Given the description of an element on the screen output the (x, y) to click on. 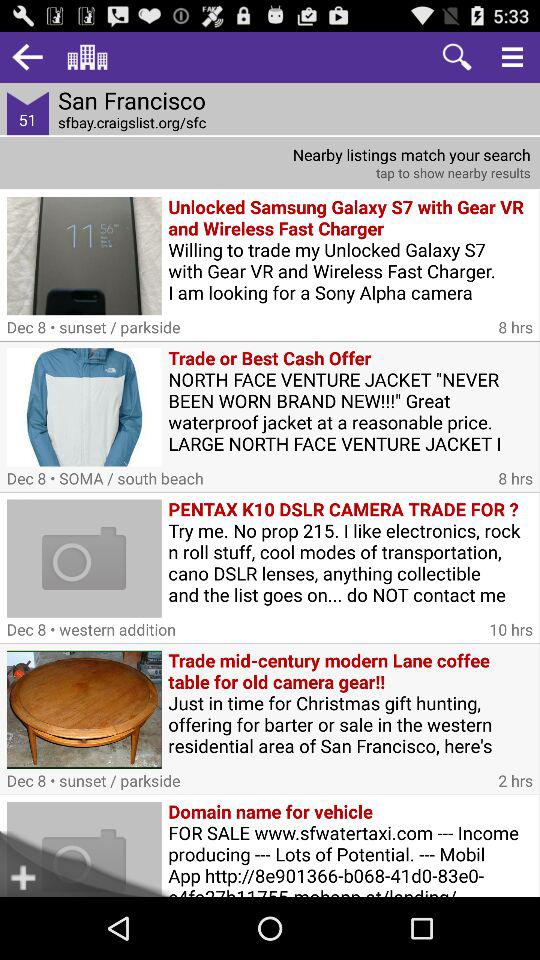
tap nearby results (270, 162)
